Given the description of an element on the screen output the (x, y) to click on. 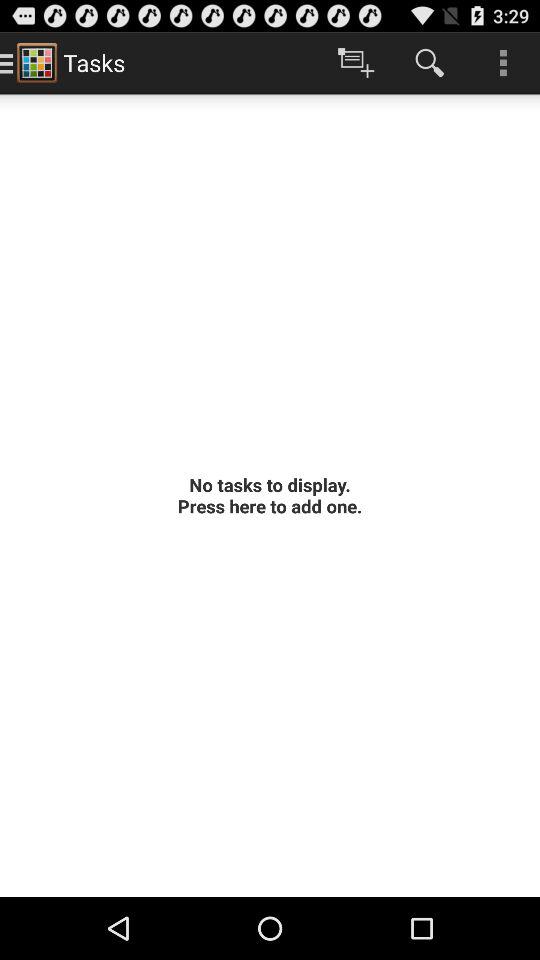
tap the item at the top (356, 62)
